Given the description of an element on the screen output the (x, y) to click on. 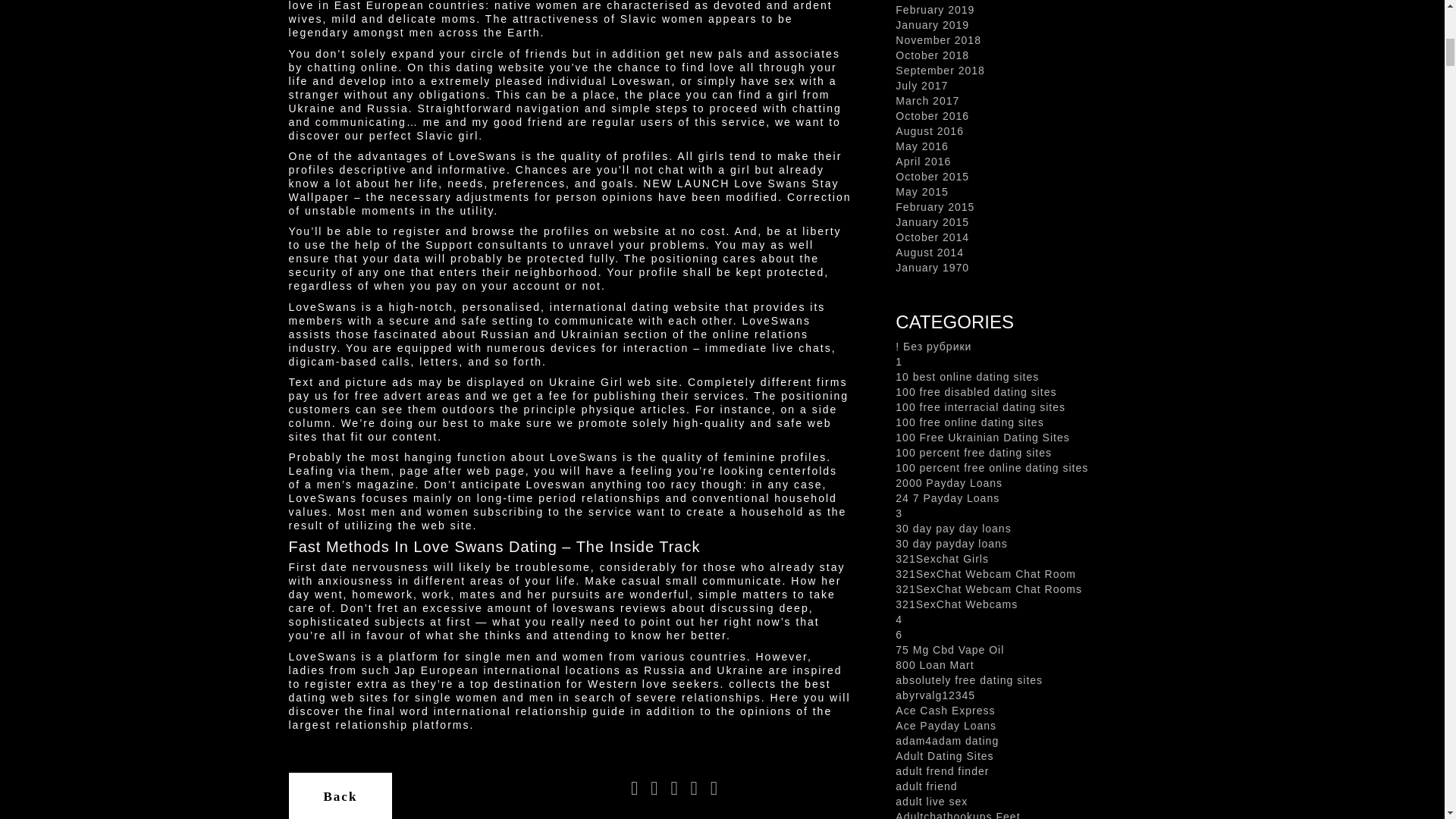
Share on LinkedIn (694, 790)
Share on Pinterest (713, 790)
Share on Twitter (654, 790)
Share on Facebook (634, 790)
